Given the description of an element on the screen output the (x, y) to click on. 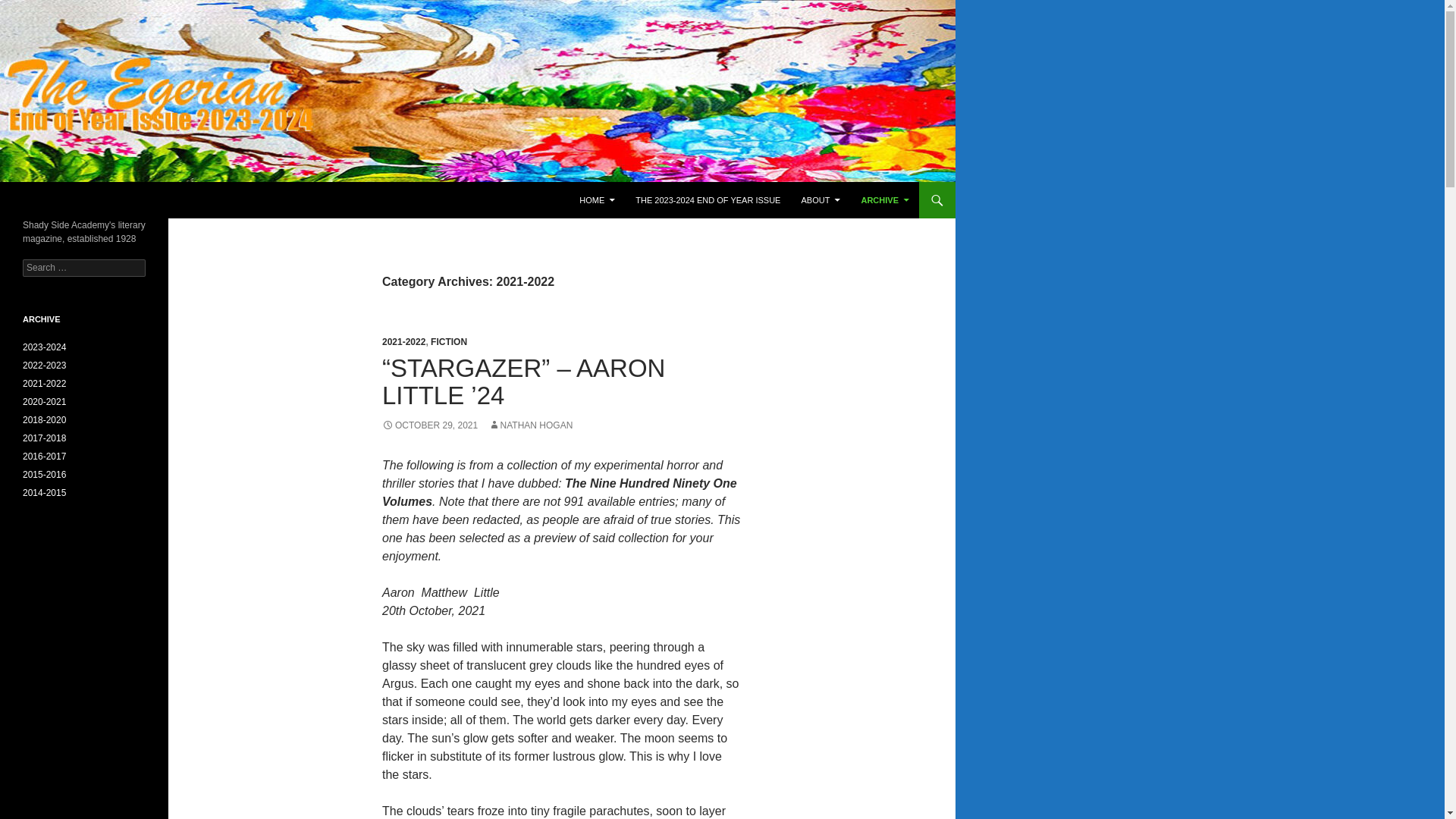
2022-2023 (44, 365)
2023-2024 (44, 347)
ABOUT (821, 199)
2021-2022 (403, 341)
HOME (597, 199)
ARCHIVE (884, 199)
NATHAN HOGAN (530, 425)
2021-2022 (44, 383)
THE 2023-2024 END OF YEAR ISSUE (707, 199)
OCTOBER 29, 2021 (429, 425)
Search (30, 8)
FICTION (448, 341)
